Given the description of an element on the screen output the (x, y) to click on. 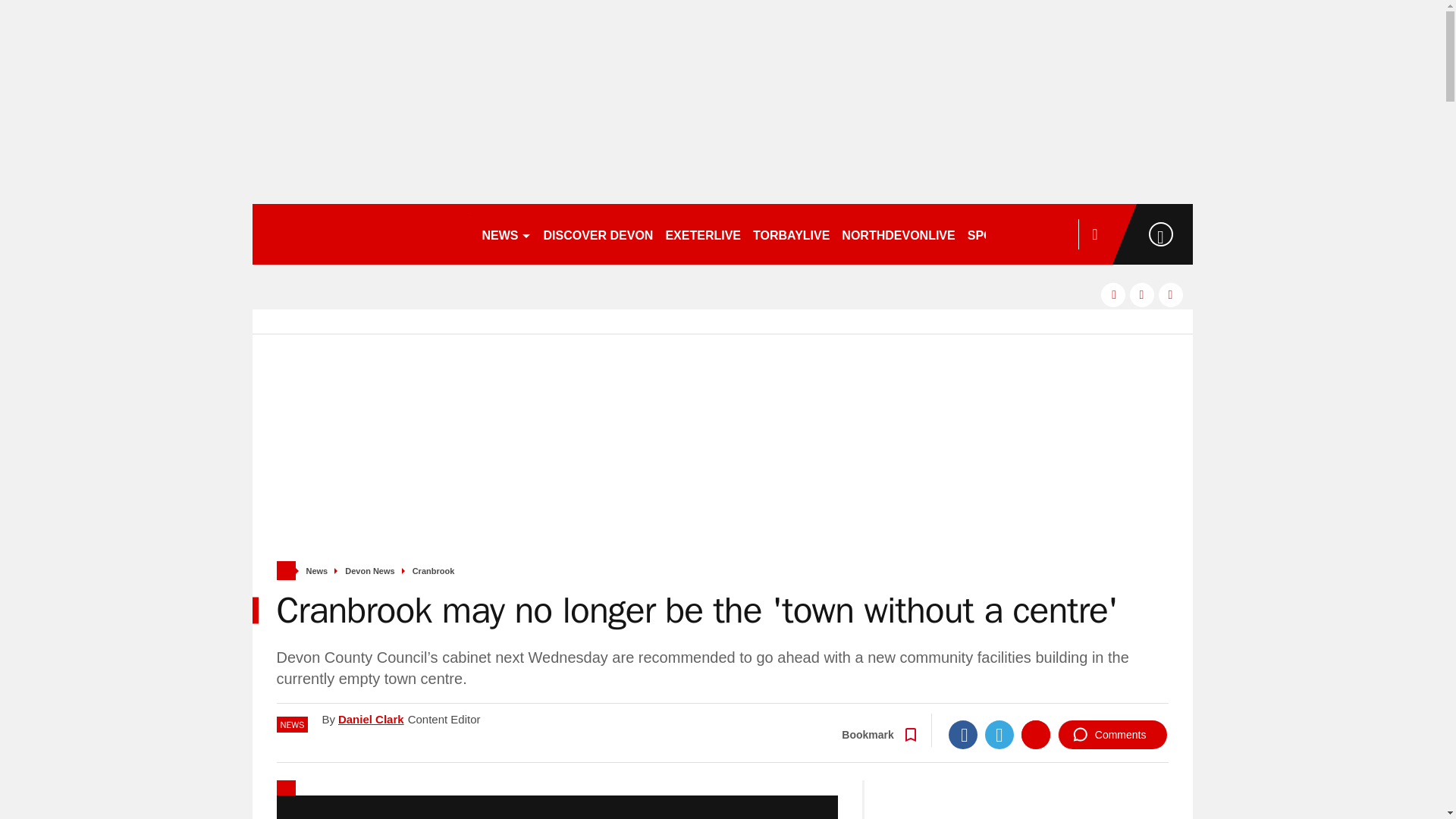
NORTHDEVONLIVE (897, 233)
TORBAYLIVE (790, 233)
NEWS (506, 233)
EXETERLIVE (702, 233)
instagram (1170, 294)
Facebook (962, 734)
SPORT (993, 233)
twitter (1141, 294)
Twitter (999, 734)
DISCOVER DEVON (598, 233)
